Given the description of an element on the screen output the (x, y) to click on. 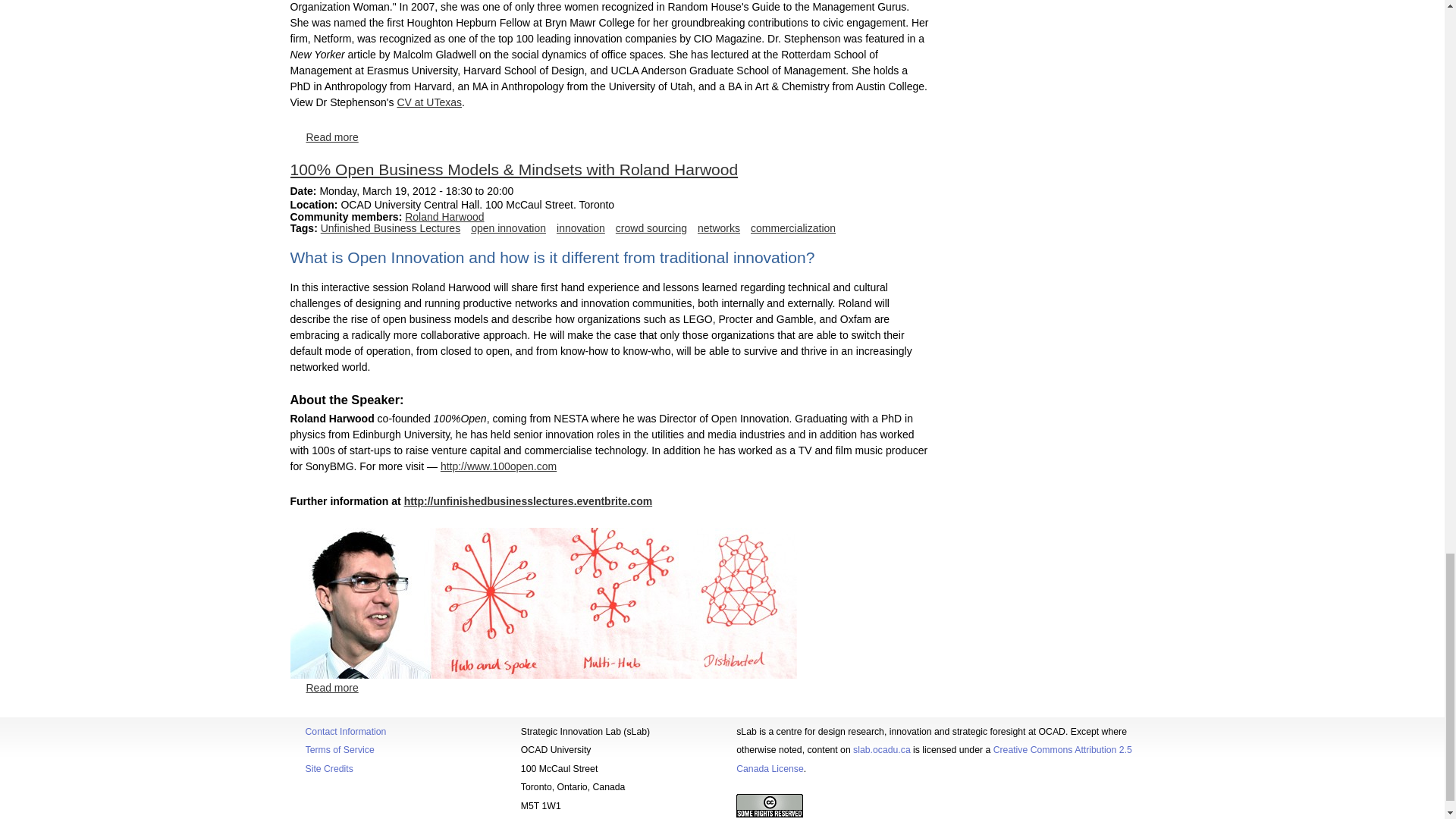
Social Networking Beyond Organization with Karen Stephenson (331, 137)
